Given the description of an element on the screen output the (x, y) to click on. 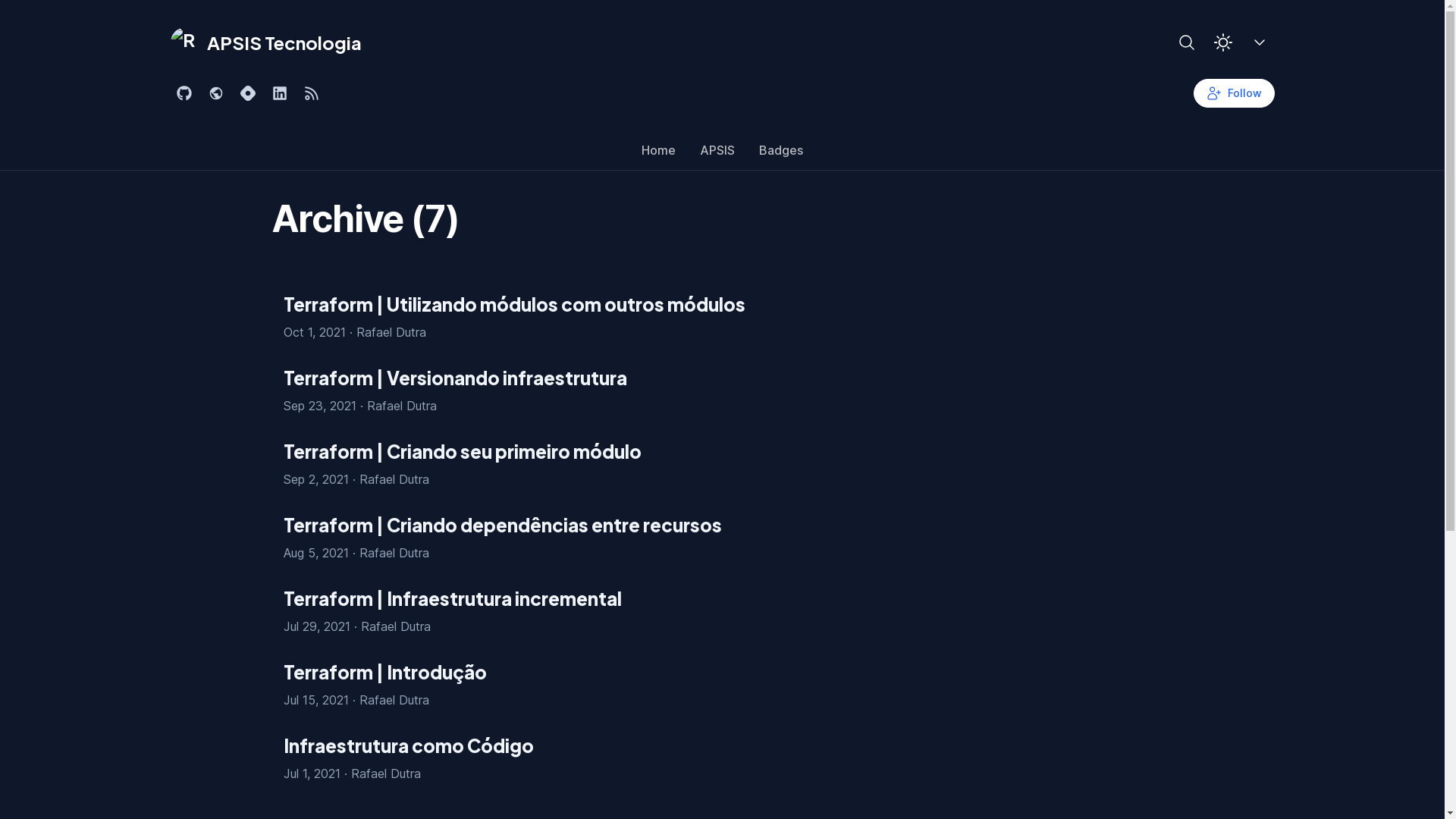
Rafael Dutra Element type: text (394, 479)
Rafael Dutra Element type: text (394, 699)
Rafael Dutra Element type: text (391, 332)
Rafael Dutra Element type: text (385, 773)
Rafael Dutra Element type: text (395, 626)
Terraform | Infraestrutura incremental Element type: text (722, 598)
Rafael Dutra Element type: text (401, 405)
Follow Element type: text (1233, 92)
APSIS Element type: text (716, 153)
APSIS Tecnologia Element type: text (264, 42)
Rafael Dutra Element type: text (394, 552)
Terraform | Versionando infraestrutura Element type: text (722, 377)
Badges Element type: text (780, 153)
Home Element type: text (658, 153)
